Given the description of an element on the screen output the (x, y) to click on. 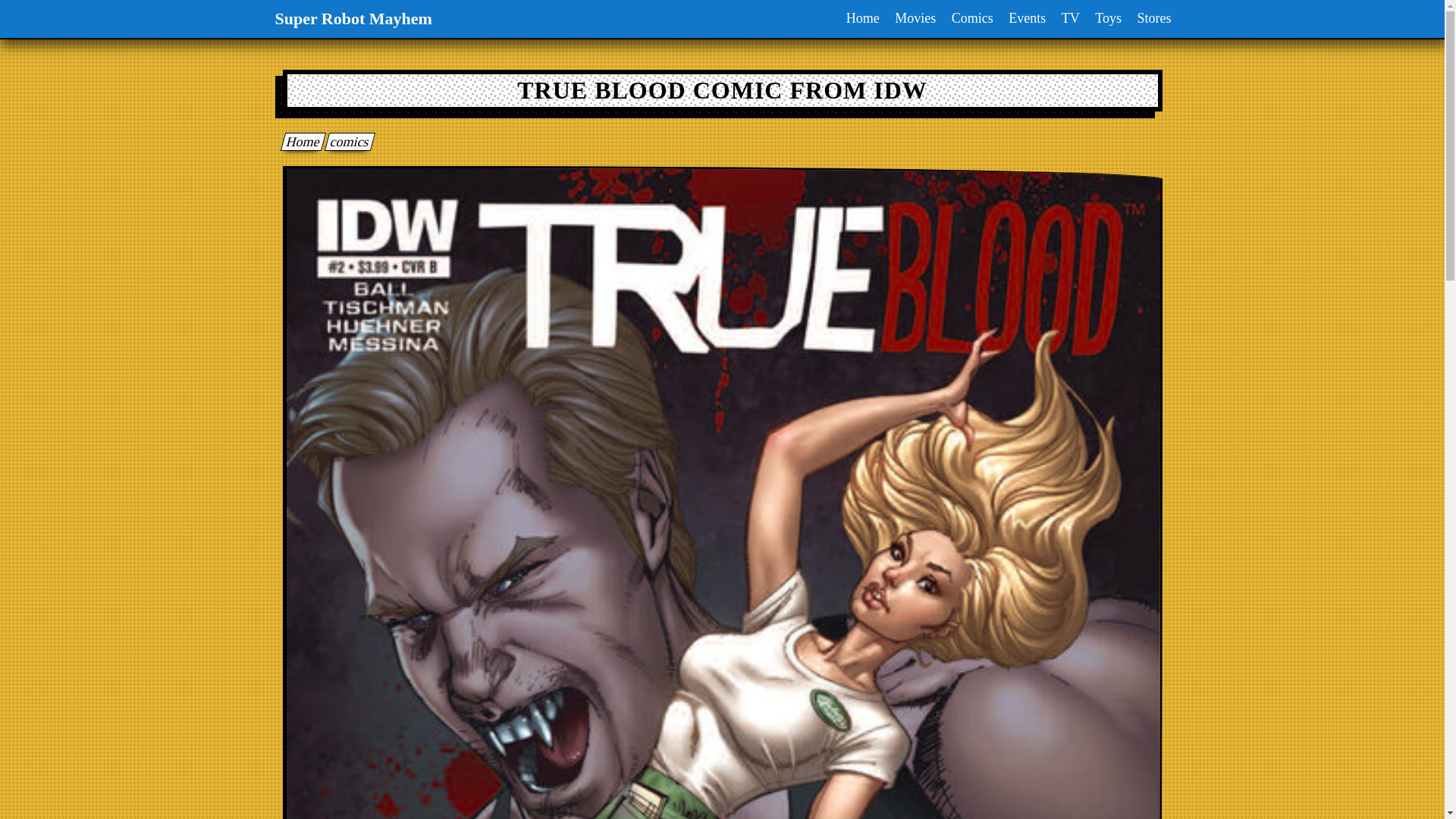
Stores (1154, 18)
Toys (1107, 18)
Super Robot Mayhem (352, 18)
Comics (971, 18)
Home (299, 141)
Movies (915, 18)
Super Robot Mayhem (352, 18)
Home (862, 18)
TV (1070, 18)
comics (346, 141)
Super Robot Mayhem (299, 141)
comics (346, 141)
Events (1027, 18)
